Given the description of an element on the screen output the (x, y) to click on. 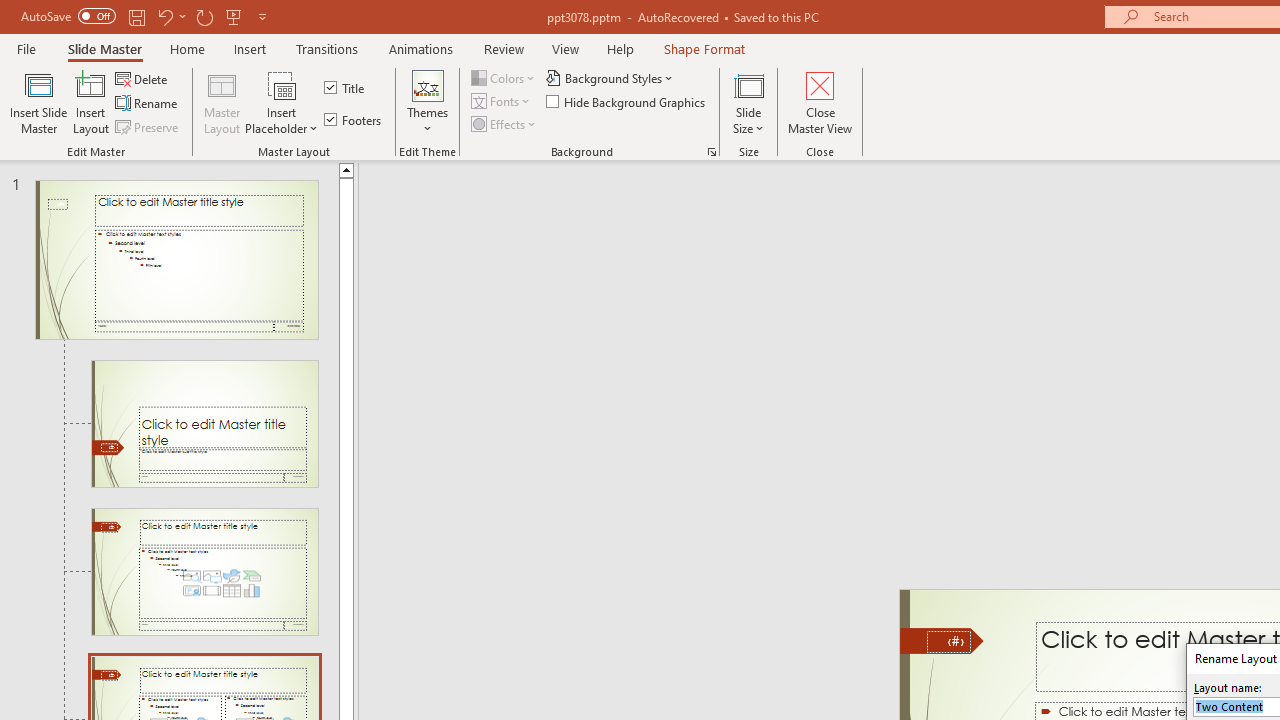
Colors (504, 78)
Insert Slide Master (38, 102)
Slide Master (104, 48)
Slide Number (948, 641)
Master Layout... (221, 102)
Hide Background Graphics (626, 101)
